Given the description of an element on the screen output the (x, y) to click on. 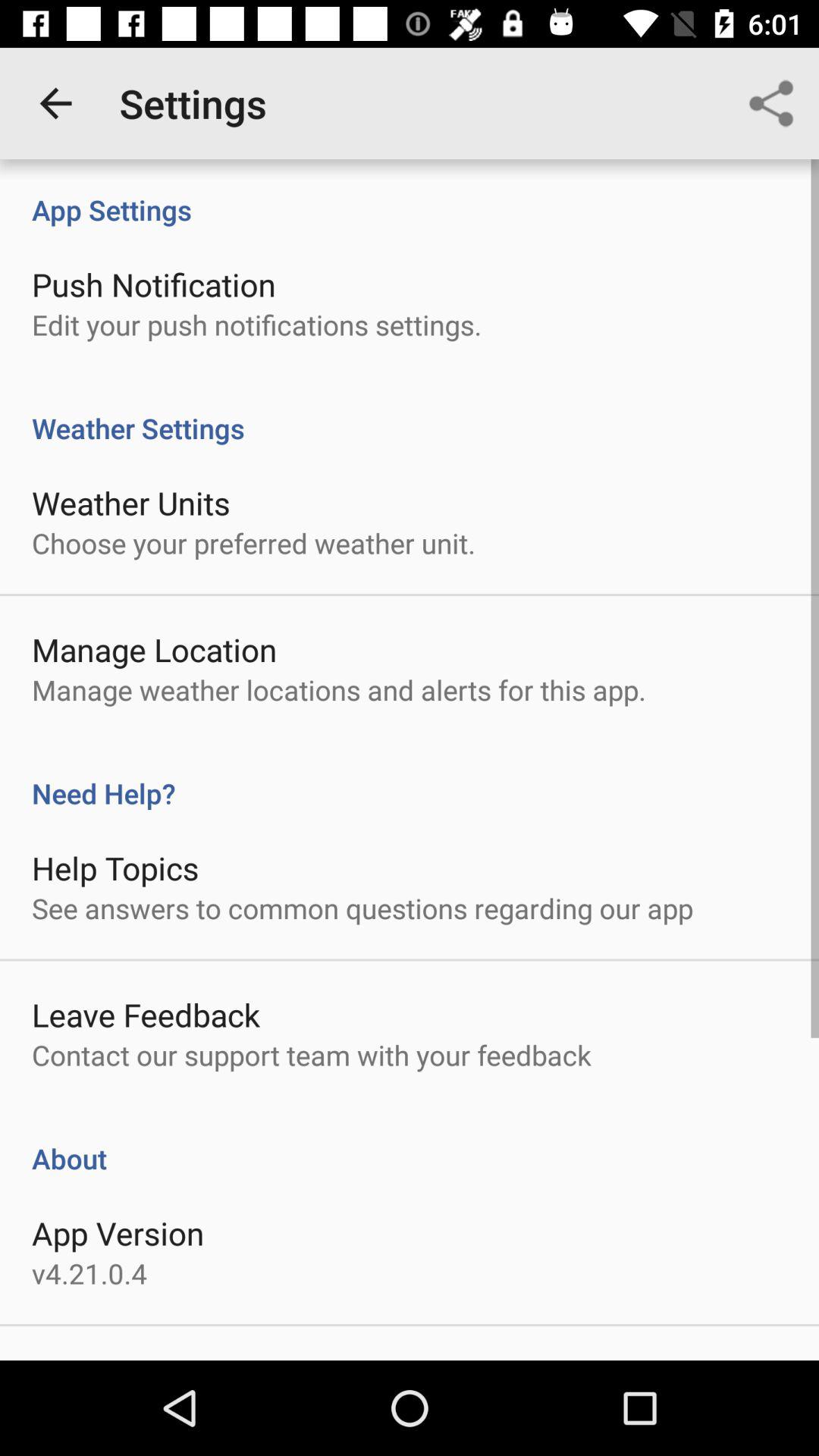
turn off the app to the left of settings  app (55, 103)
